Given the description of an element on the screen output the (x, y) to click on. 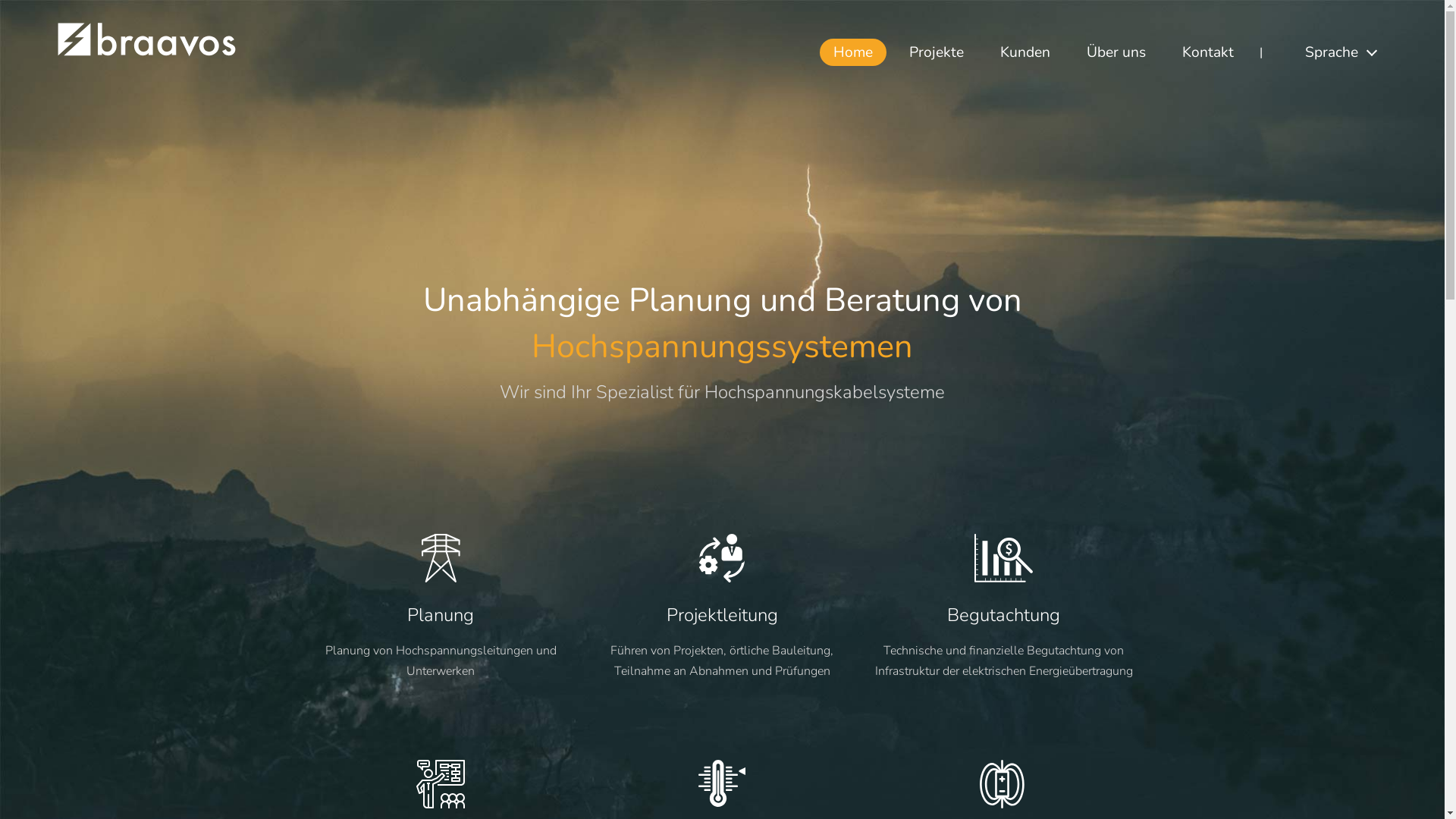
Kontakt Element type: text (1207, 51)
Kunden Element type: text (1024, 51)
Projekte Element type: text (936, 51)
Home Element type: text (852, 51)
logo Created with Sketch. Element type: text (146, 52)
